Given the description of an element on the screen output the (x, y) to click on. 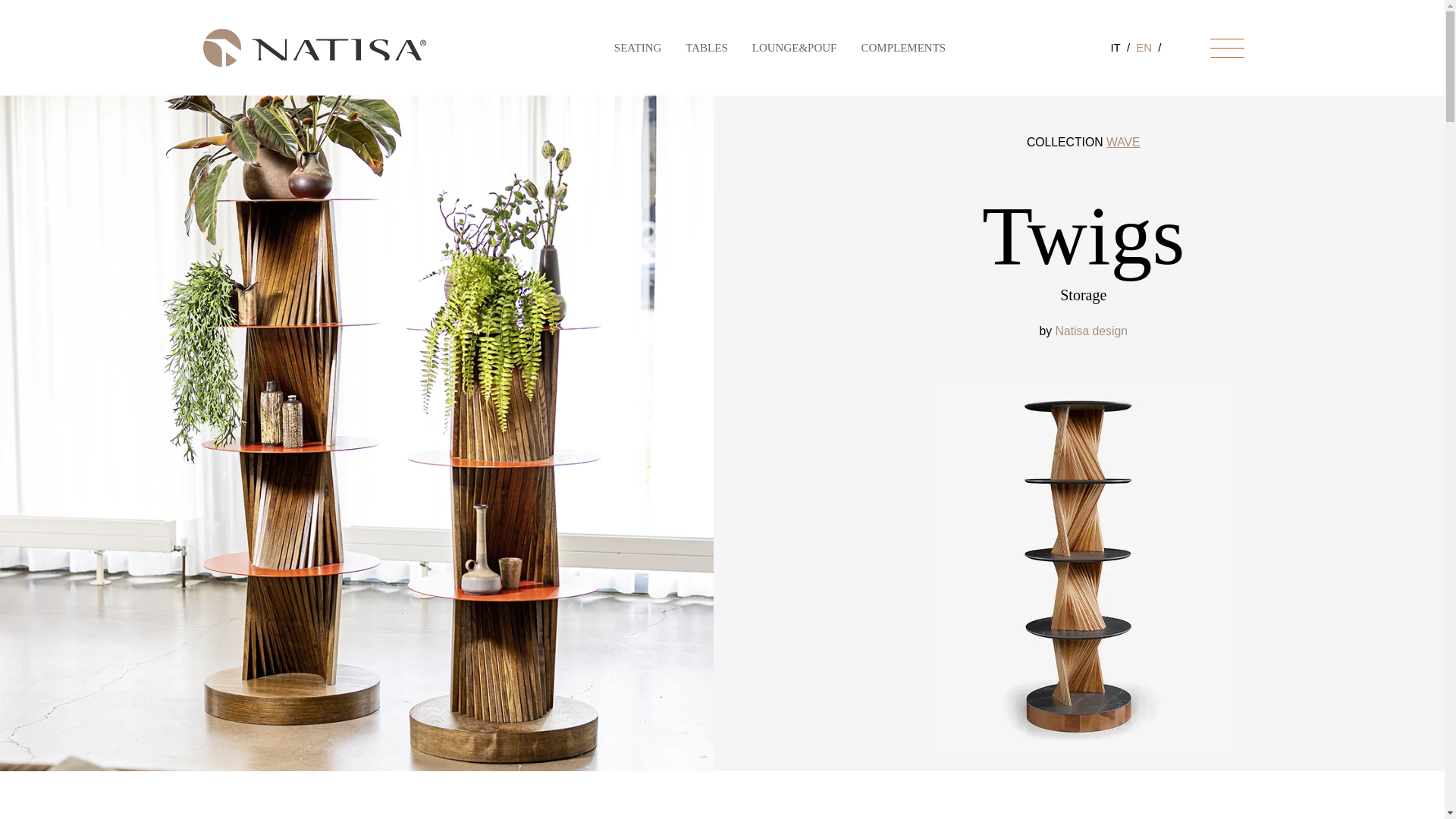
SEATING (638, 47)
COMPLEMENTS (902, 47)
EN (1143, 47)
TABLES (705, 47)
WAVE (1123, 141)
IT (1114, 47)
